Given the description of an element on the screen output the (x, y) to click on. 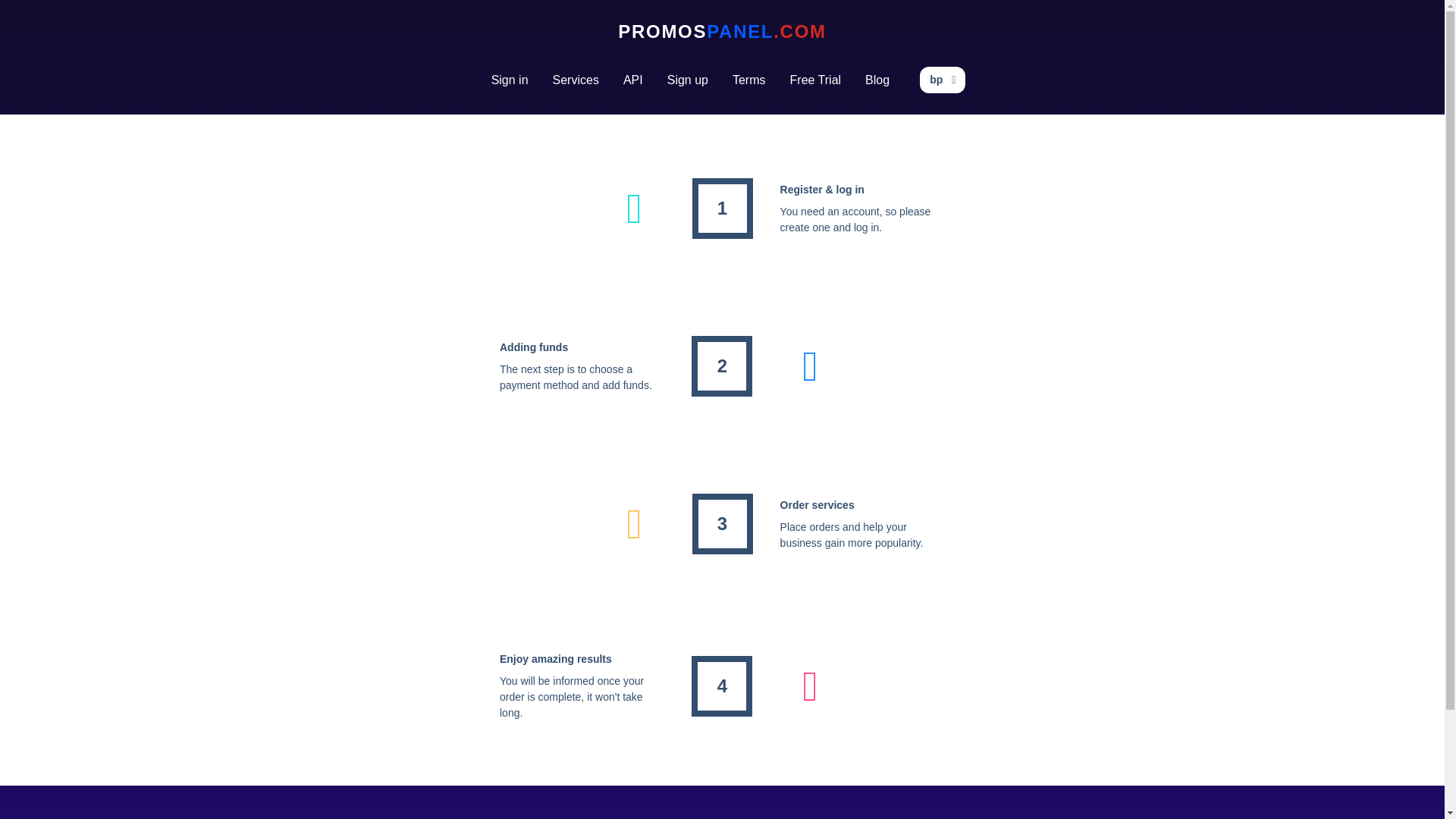
Blog (877, 79)
Services (575, 79)
Sign in (509, 79)
API (633, 79)
Free Trial (815, 79)
Sign up (687, 79)
Terms (748, 79)
